Given the description of an element on the screen output the (x, y) to click on. 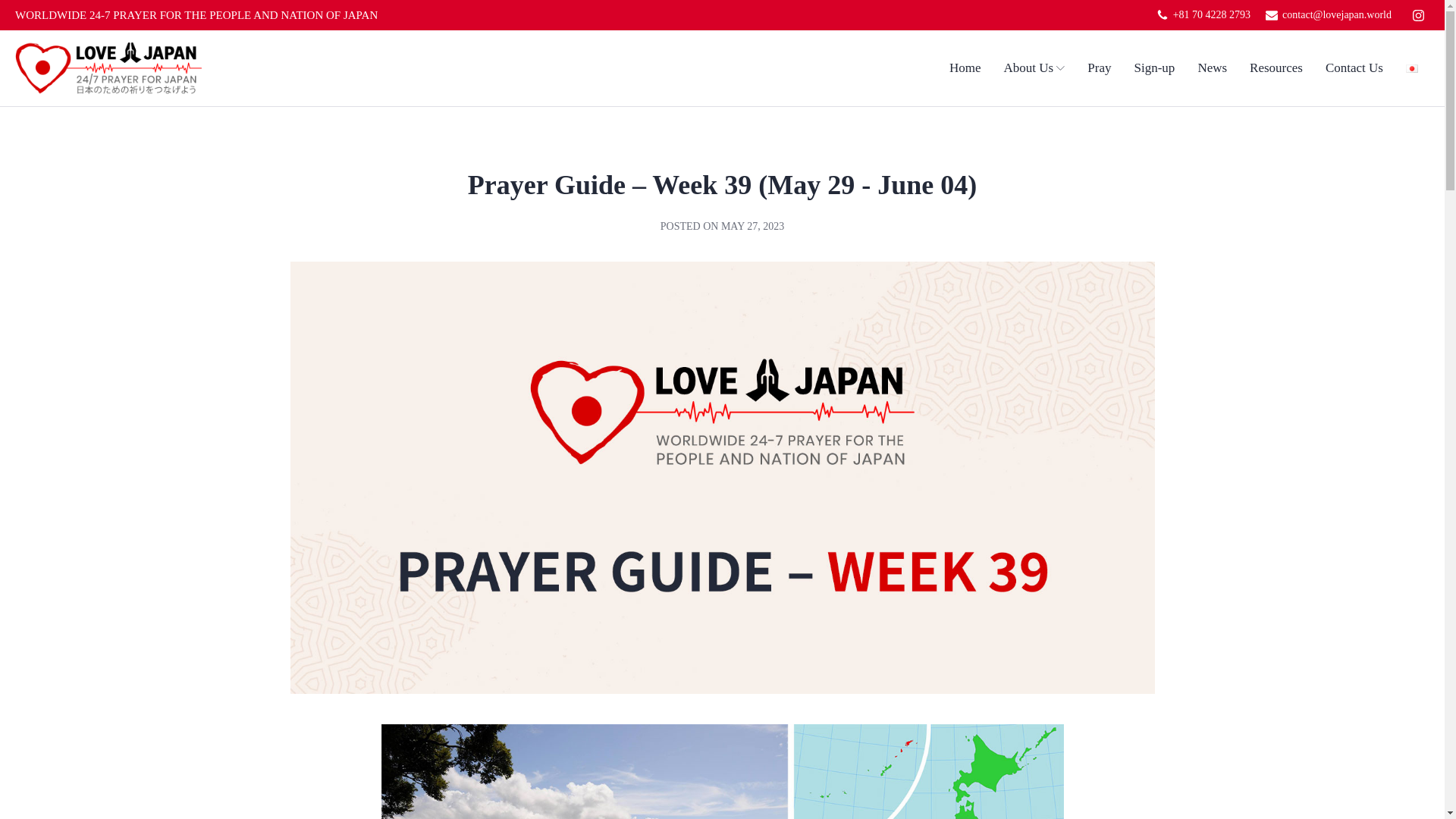
Sign-up (1154, 67)
Home (964, 67)
News (1212, 67)
Contact Us (1354, 67)
Resources (1276, 67)
Pray (1098, 67)
About Us (1034, 67)
